Given the description of an element on the screen output the (x, y) to click on. 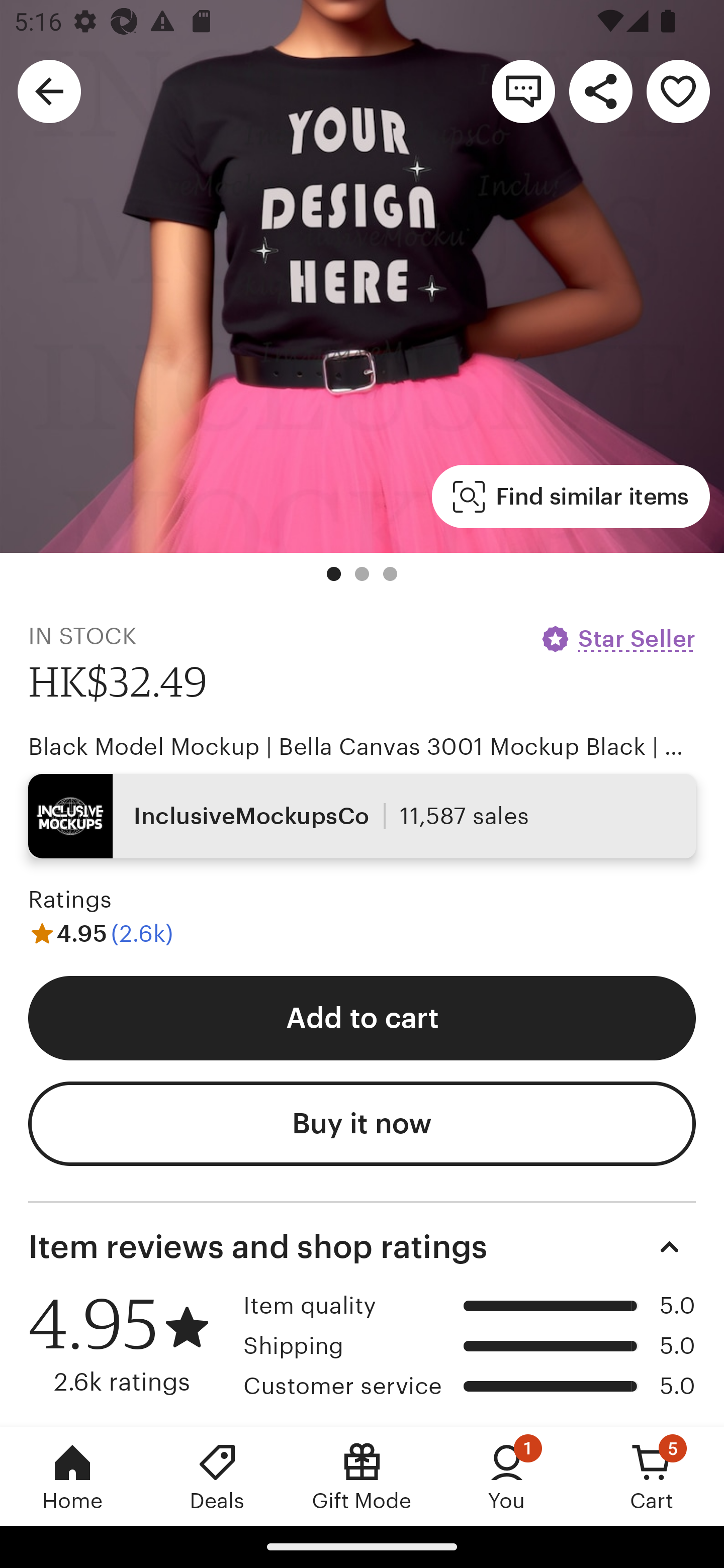
Navigate up (49, 90)
Contact shop (523, 90)
Share (600, 90)
Find similar items (571, 496)
Star Seller (617, 638)
InclusiveMockupsCo 11,587 sales (361, 815)
Ratings (70, 898)
4.95 (2.6k) (100, 933)
Add to cart (361, 1017)
Buy it now (361, 1123)
Item reviews and shop ratings (362, 1246)
4.95 2.6k ratings (128, 1343)
Deals (216, 1475)
Gift Mode (361, 1475)
You, 1 new notification You (506, 1475)
Cart, 5 new notifications Cart (651, 1475)
